Given the description of an element on the screen output the (x, y) to click on. 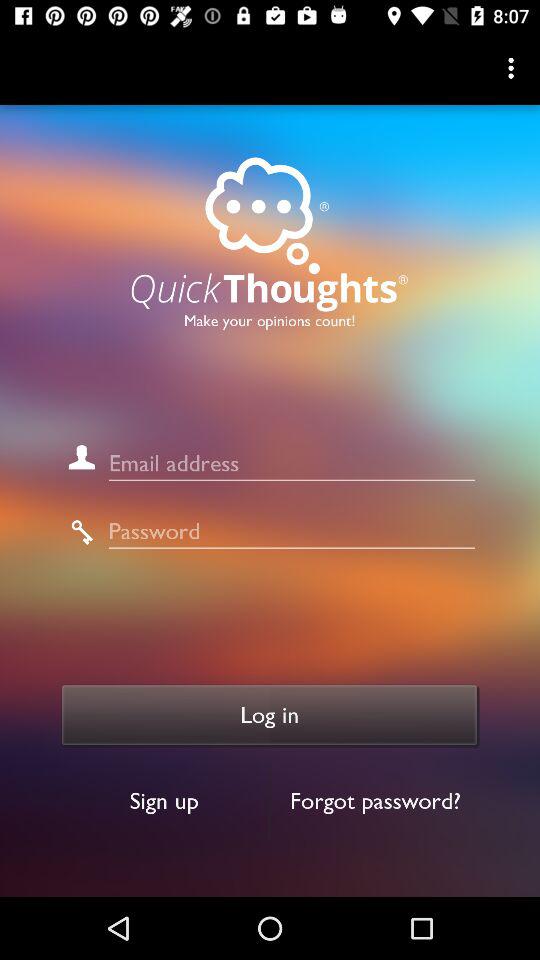
swipe until the forgot password? item (375, 800)
